Given the description of an element on the screen output the (x, y) to click on. 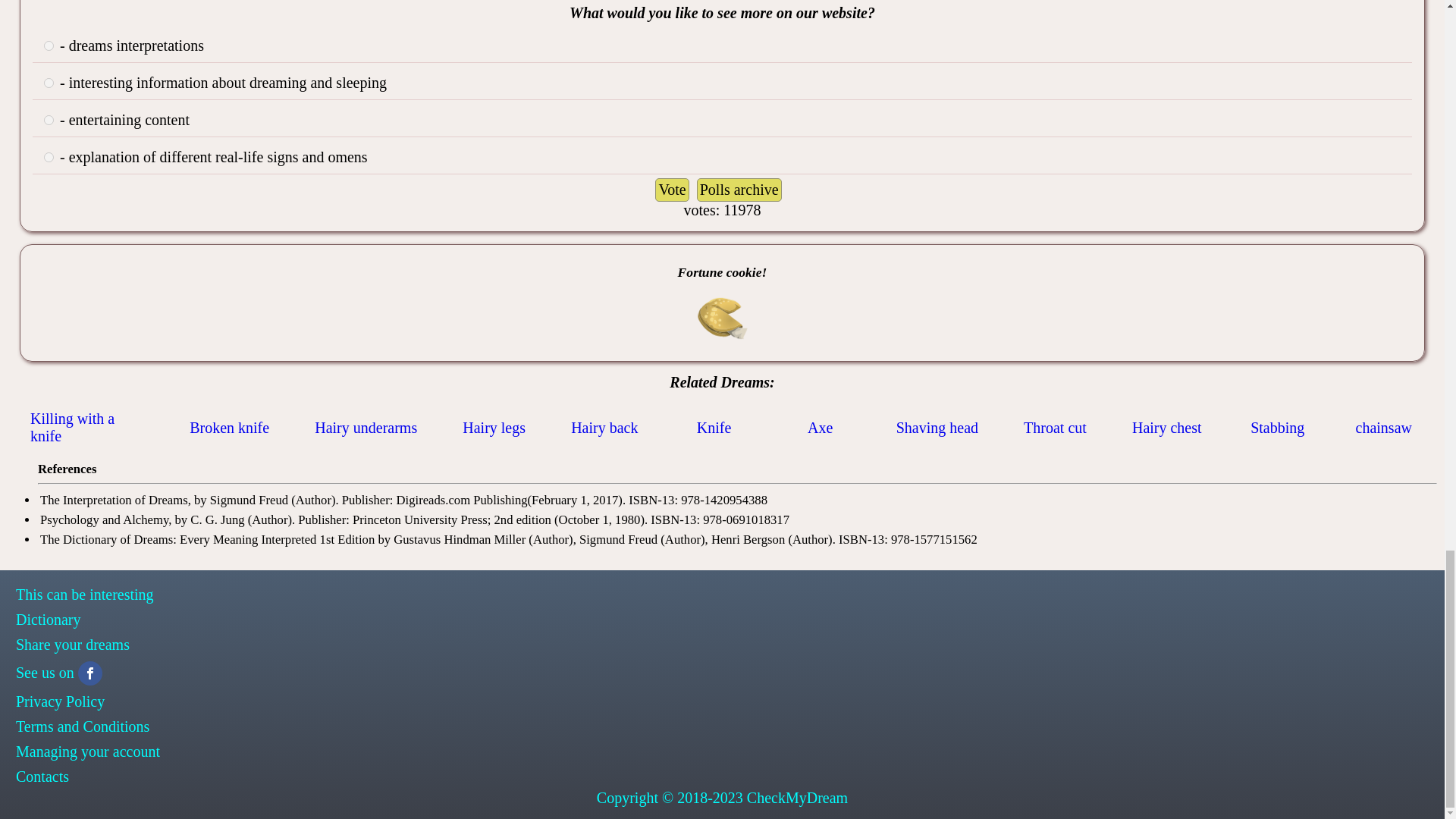
on (48, 82)
on (48, 45)
on (48, 157)
on (48, 120)
